Given the description of an element on the screen output the (x, y) to click on. 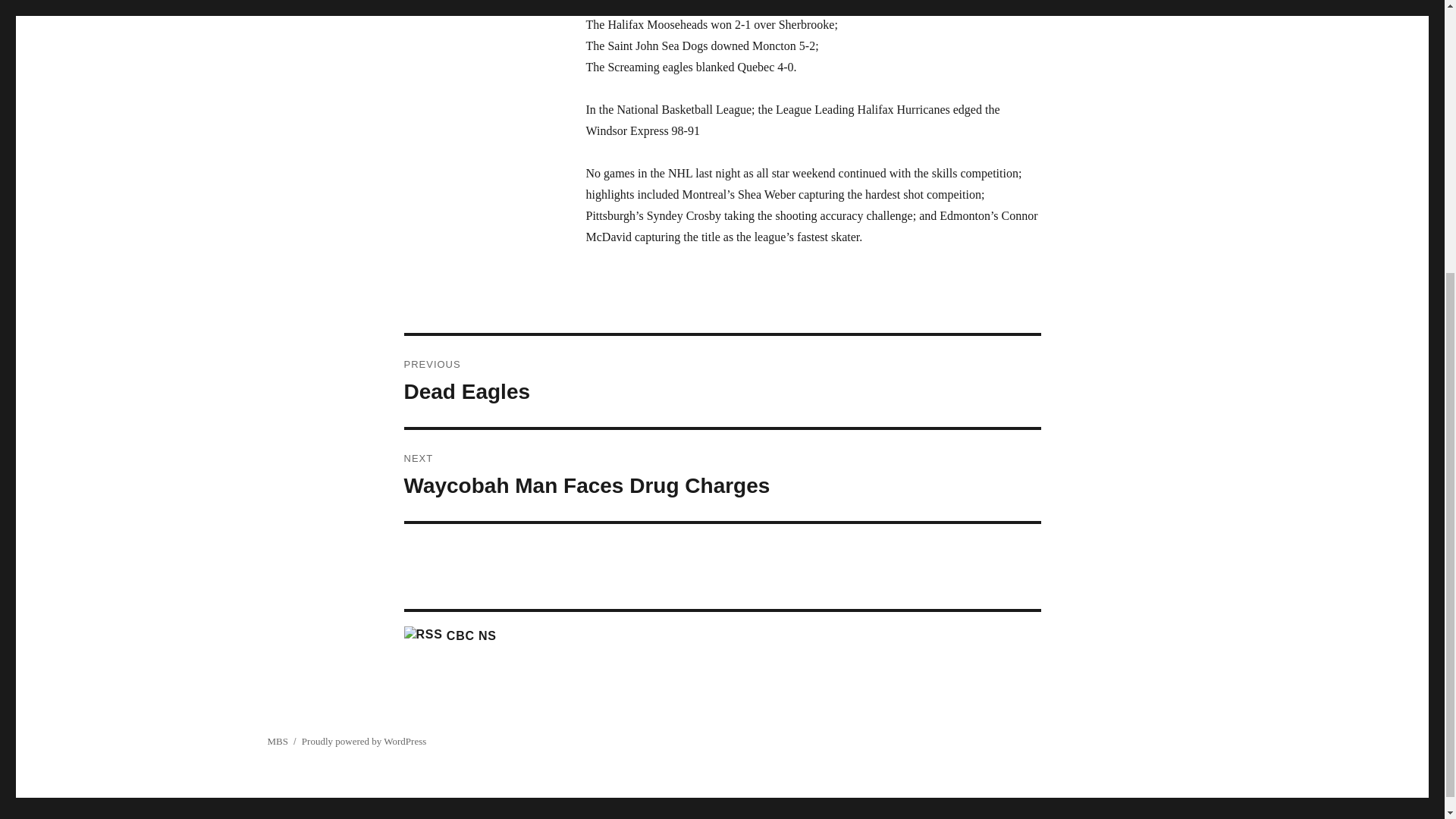
MBS (722, 380)
Proudly powered by WordPress (276, 740)
CBC NS (363, 740)
